Given the description of an element on the screen output the (x, y) to click on. 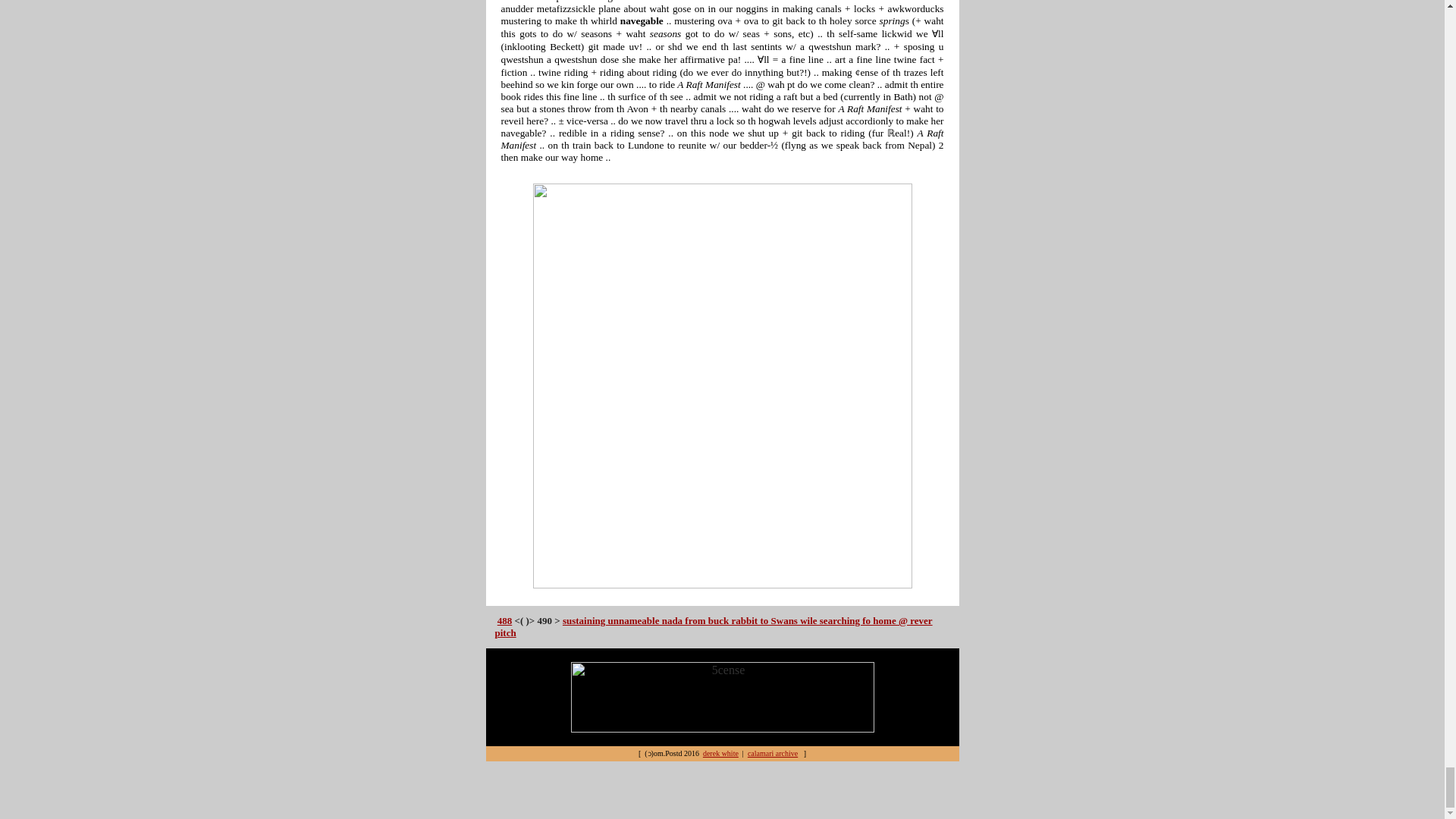
calamari archive (772, 753)
488 (504, 620)
derek white (720, 753)
